Given the description of an element on the screen output the (x, y) to click on. 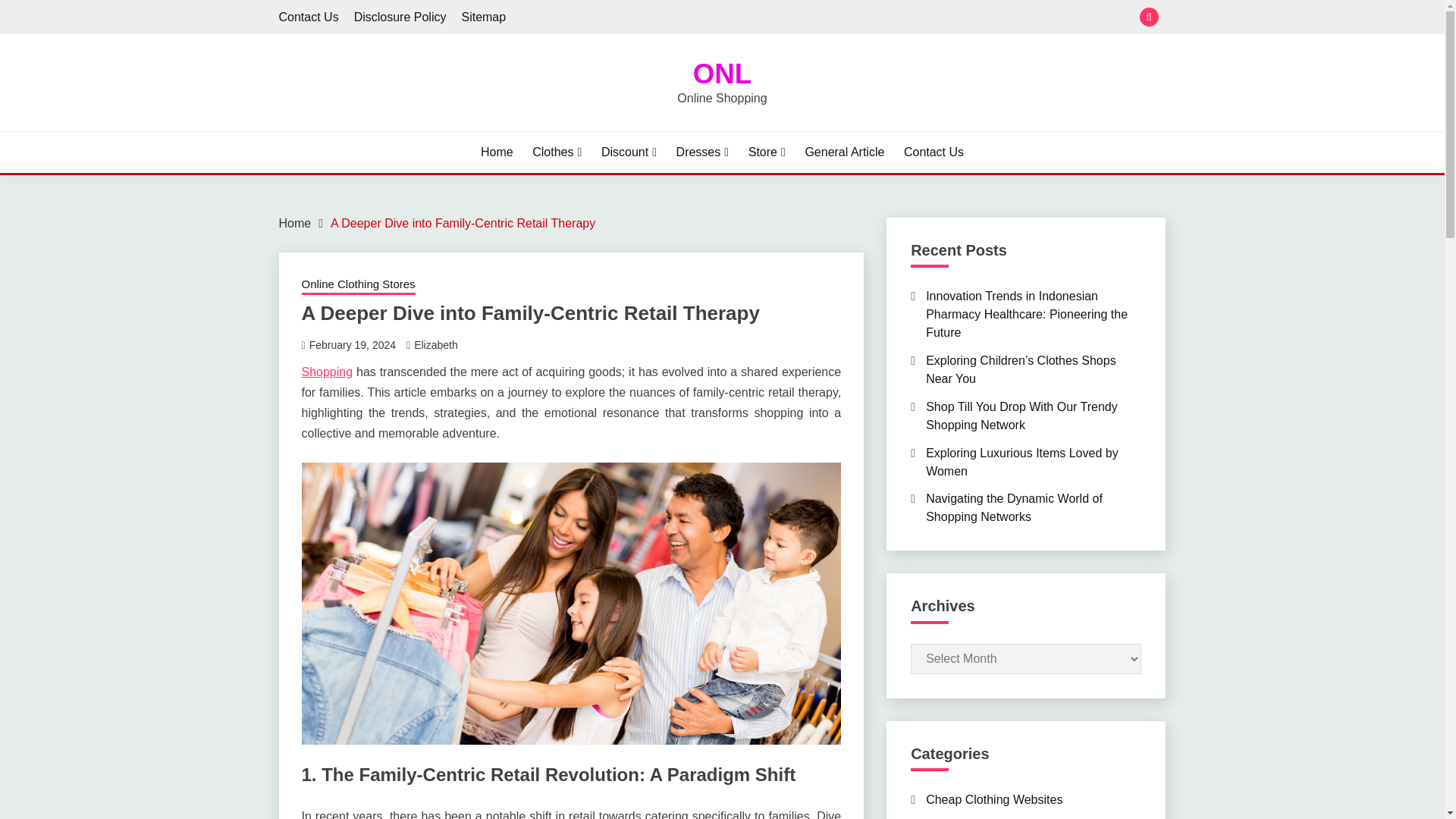
Clothes (556, 152)
ONL (722, 73)
Home (496, 152)
Disclosure Policy (399, 16)
Discount (628, 152)
Dresses (703, 152)
General Article (844, 152)
Sitemap (483, 16)
Contact Us (309, 16)
Search (832, 18)
Store (767, 152)
A Deeper Dive into Family-Centric Retail Therapy (462, 223)
Home (295, 223)
Contact Us (933, 152)
